Given the description of an element on the screen output the (x, y) to click on. 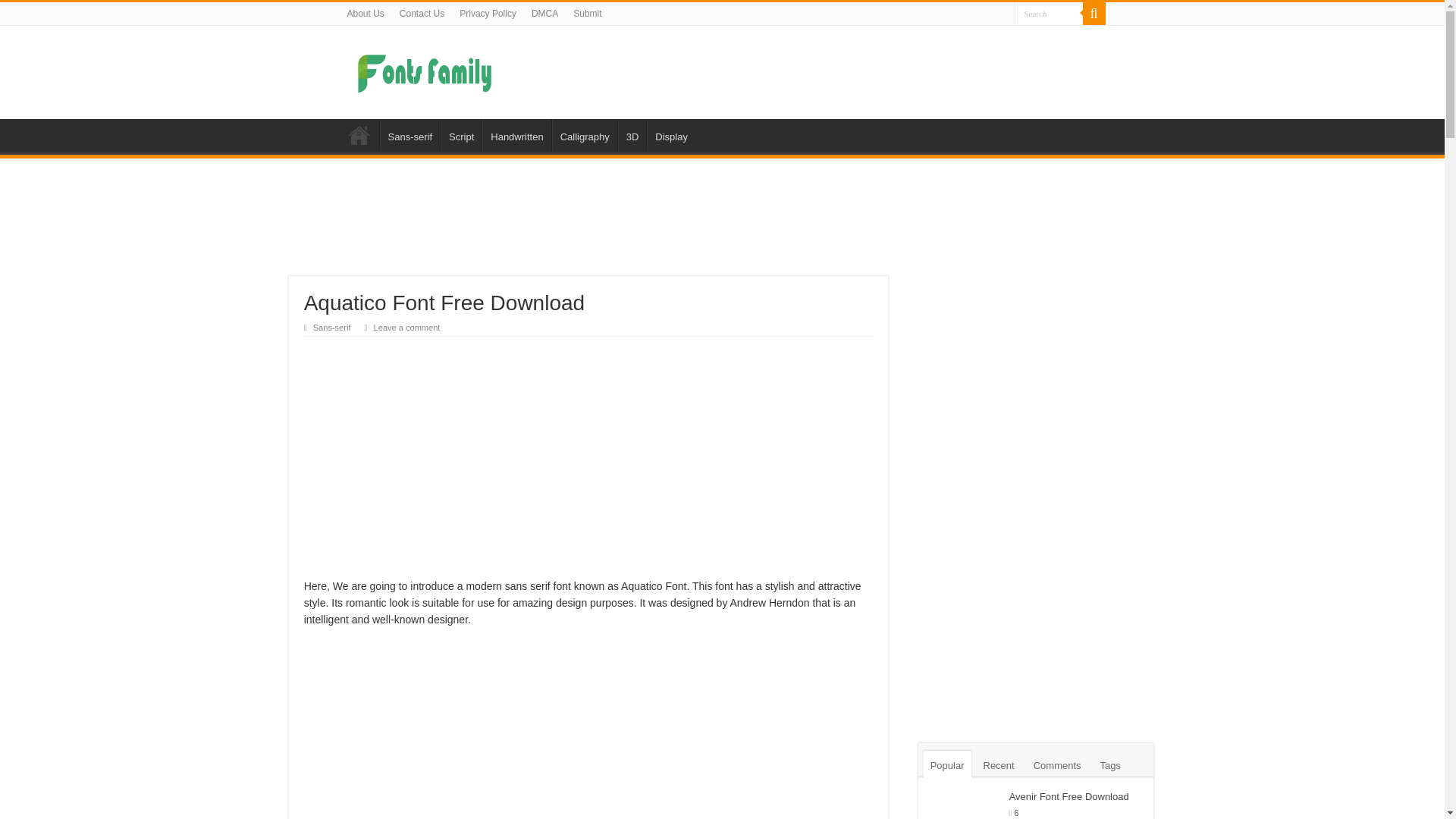
Search (1048, 13)
Search (1048, 13)
Search (1048, 13)
Privacy Policy (487, 13)
Submit (587, 13)
Sans-serif (408, 134)
Contact Us (421, 13)
Calligraphy (584, 134)
DMCA (545, 13)
About Us (365, 13)
Display (670, 134)
Search (1094, 13)
3D (631, 134)
Handwritten (515, 134)
